Given the description of an element on the screen output the (x, y) to click on. 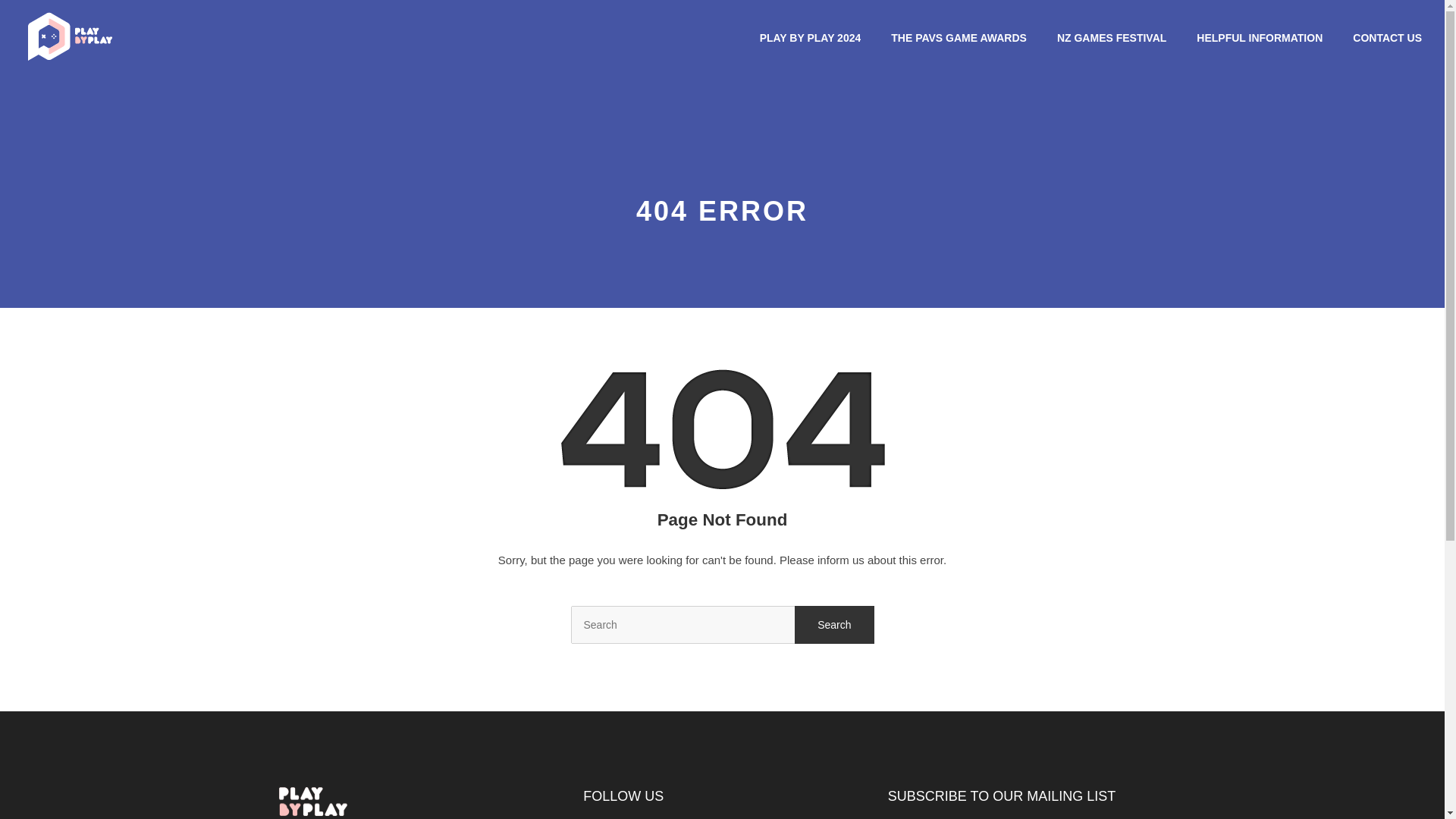
HELPFUL INFORMATION (1259, 38)
Search (833, 624)
PLAY BY PLAY 2024 (810, 38)
NZ GAMES FESTIVAL (1111, 38)
THE PAVS GAME AWARDS (958, 38)
CONTACT US (1387, 38)
